Given the description of an element on the screen output the (x, y) to click on. 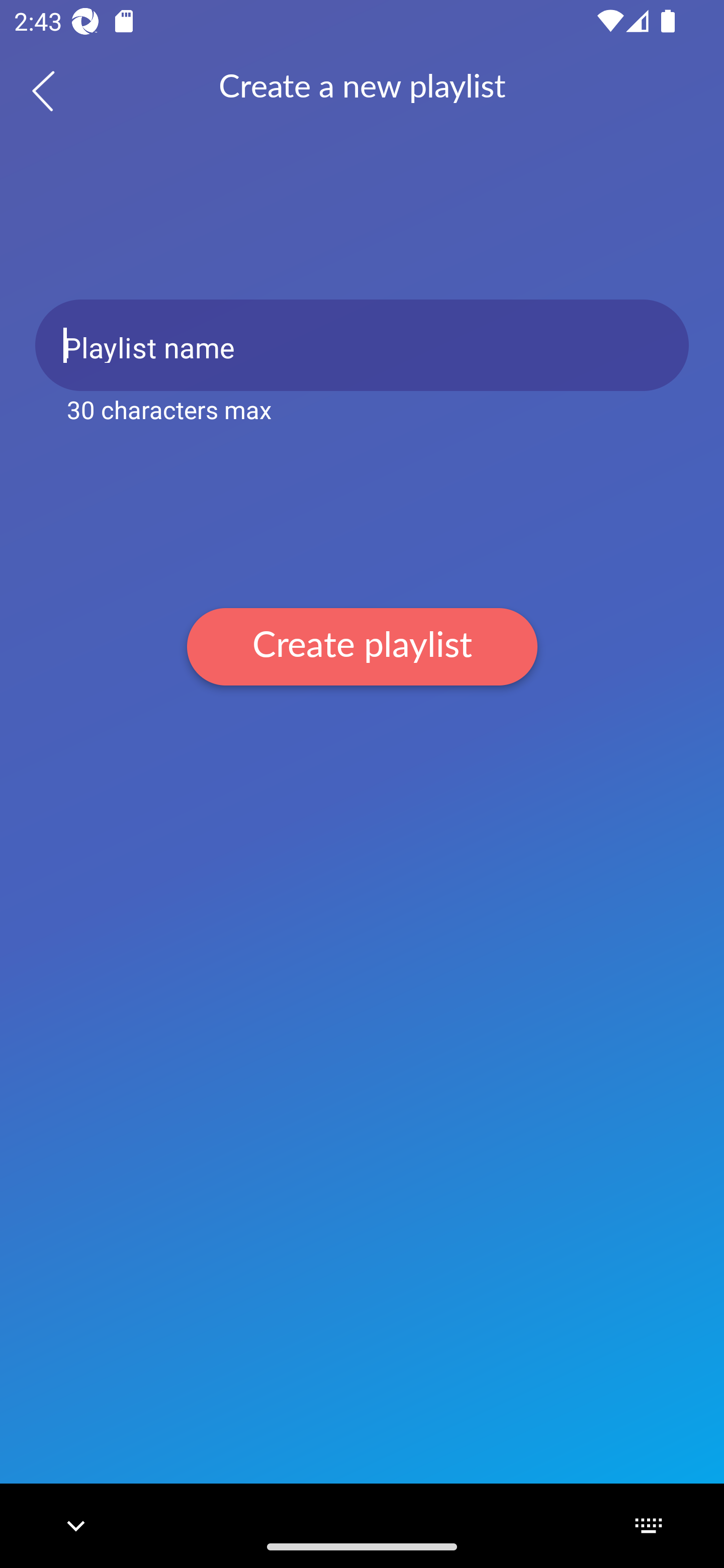
Playlist name (361, 344)
Create playlist (362, 646)
